Given the description of an element on the screen output the (x, y) to click on. 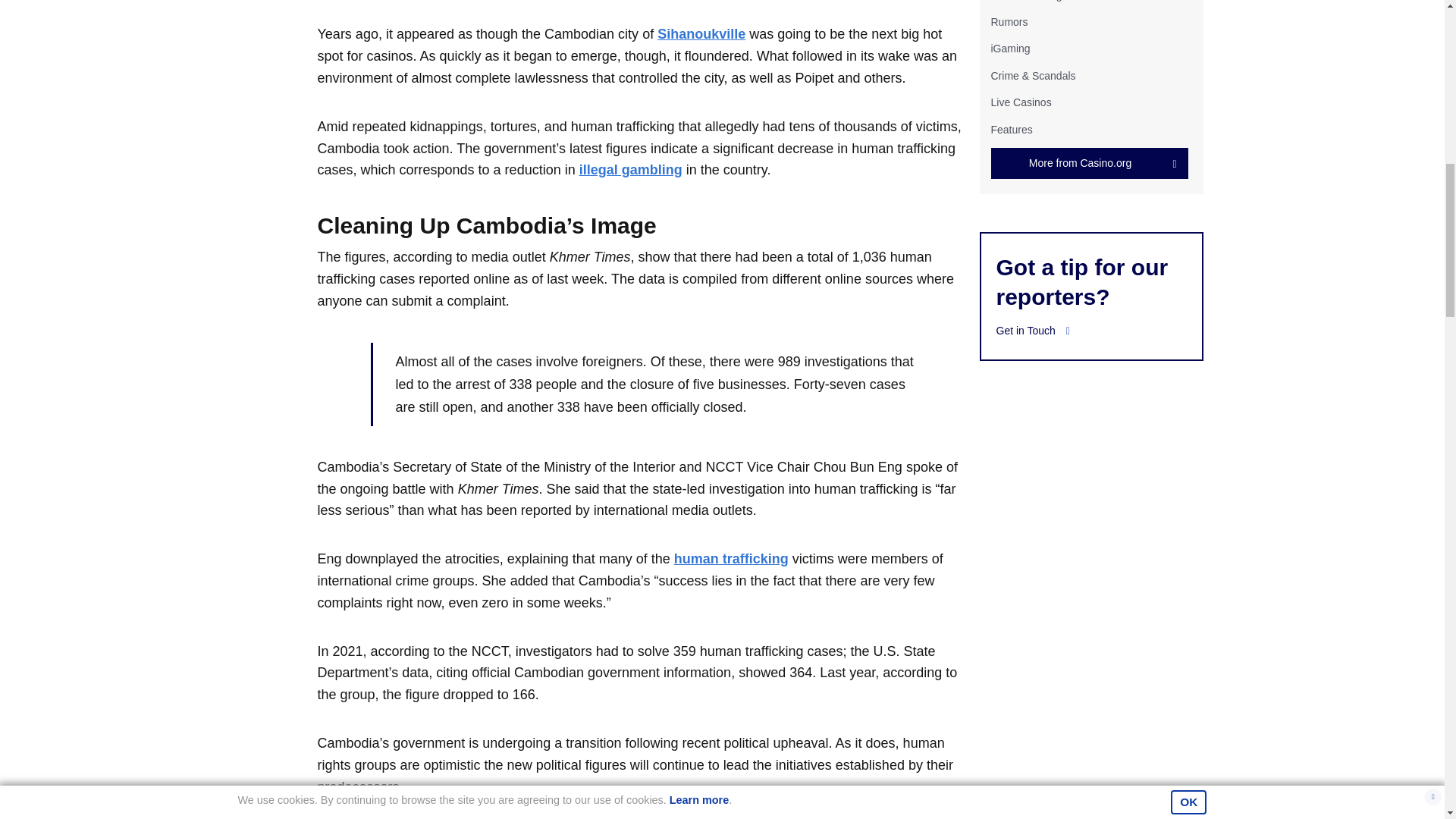
human trafficking (731, 558)
Sihanoukville (701, 33)
Live Casinos (1020, 102)
Features (1011, 128)
Mobile Gaming (1025, 0)
illegal gambling (630, 169)
Rumors (1008, 21)
iGaming (1009, 48)
